Given the description of an element on the screen output the (x, y) to click on. 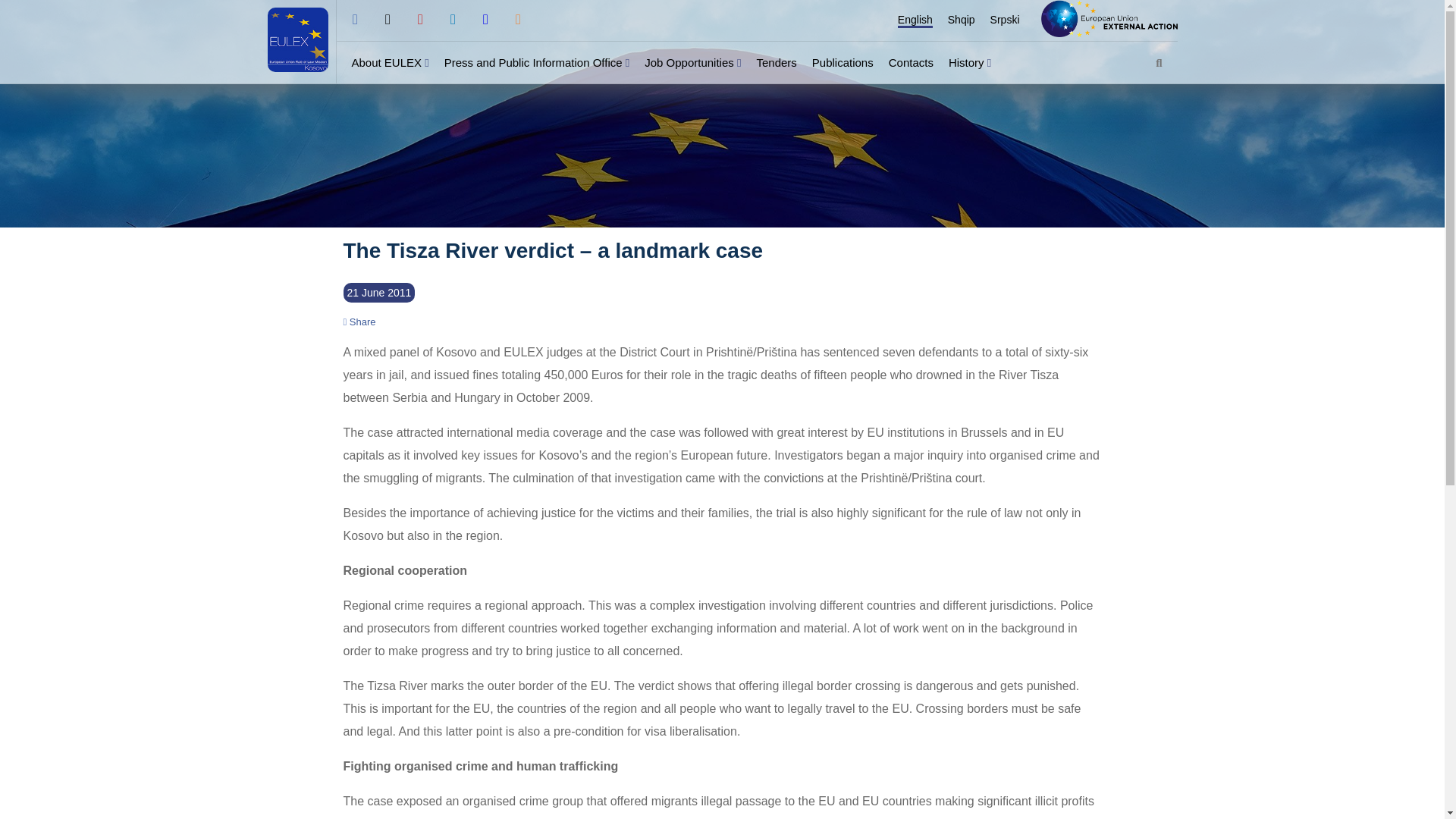
Press and Public Information Office (533, 62)
Job Opportunities (689, 62)
Shqip (961, 19)
Contacts (910, 62)
Shqip (961, 19)
Publications (842, 62)
English (915, 20)
About EULEX (387, 62)
Srpski (1005, 19)
Tenders (775, 62)
